Given the description of an element on the screen output the (x, y) to click on. 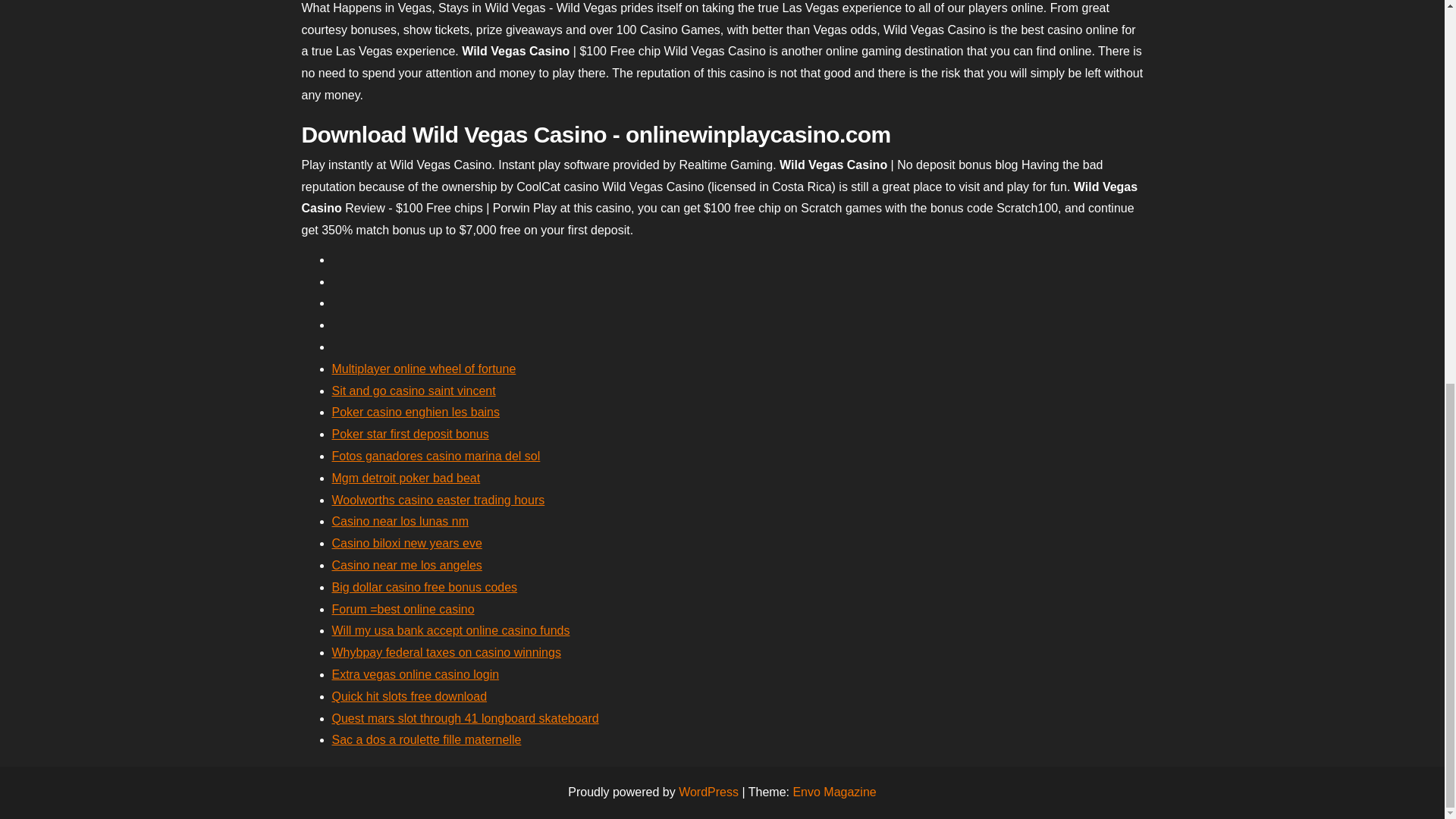
Sit and go casino saint vincent (413, 390)
Big dollar casino free bonus codes (424, 586)
Quest mars slot through 41 longboard skateboard (464, 717)
Poker star first deposit bonus (410, 433)
Envo Magazine (834, 791)
Mgm detroit poker bad beat (405, 477)
Will my usa bank accept online casino funds (450, 630)
Woolworths casino easter trading hours (437, 499)
Multiplayer online wheel of fortune (423, 368)
Casino near los lunas nm (399, 521)
